Given the description of an element on the screen output the (x, y) to click on. 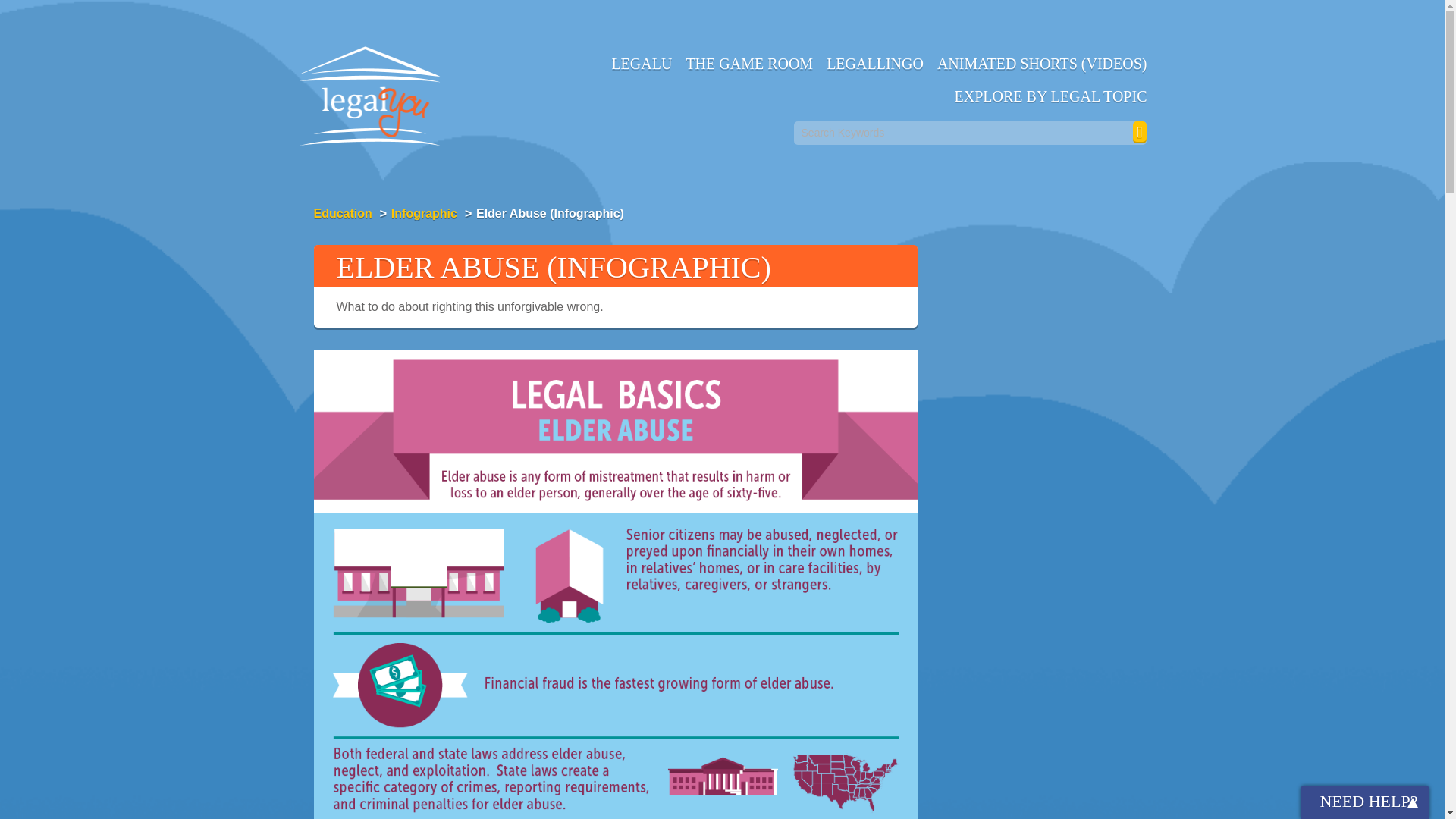
THE GAME ROOM (748, 61)
LegalYou (370, 106)
LEGALU (641, 61)
LegalYou Home (370, 106)
LEGALLINGO (874, 61)
Education (343, 213)
Infographic (424, 213)
EXPLORE BY LEGAL TOPIC (1050, 94)
